Given the description of an element on the screen output the (x, y) to click on. 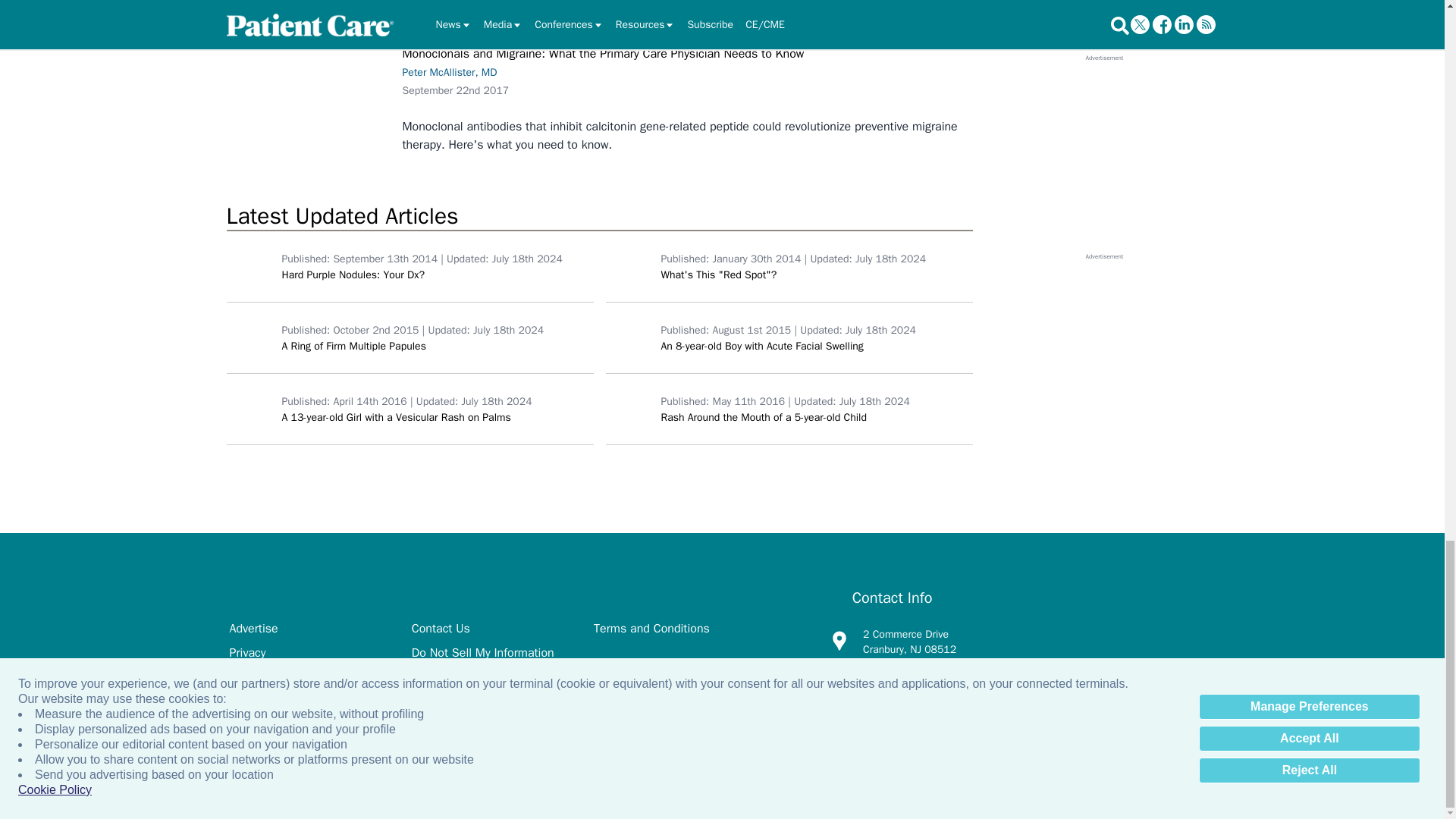
Hard Purple Nodules: Your Dx? (250, 266)
An 8-year-old Boy with Acute Facial Swelling  (629, 337)
What's This "Red Spot"? (629, 266)
A Ring of Firm Multiple Papules  (250, 337)
Rash Around the Mouth of a 5-year-old Child (629, 408)
A 13-year-old Girl with a Vesicular Rash on Palms  (250, 408)
